Given the description of an element on the screen output the (x, y) to click on. 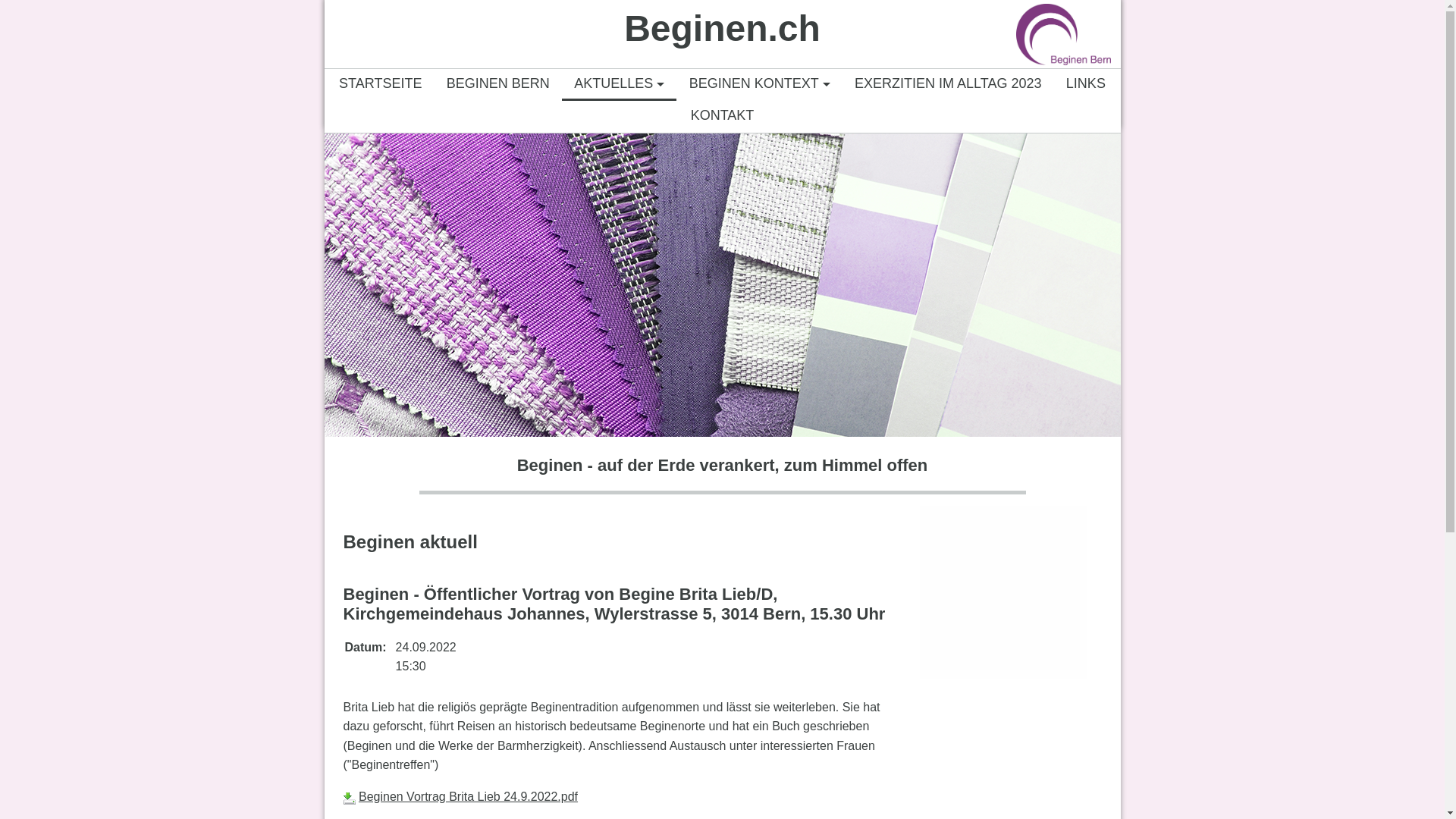
AKTUELLES Element type: text (618, 83)
Beginen Vortrag Brita Lieb 24.9.2022.pdf Element type: text (467, 796)
LINKS Element type: text (1085, 83)
Download Element type: hover (348, 798)
BEGINEN KONTEXT Element type: text (758, 83)
KONTAKT Element type: text (721, 115)
STARTSEITE Element type: text (380, 83)
EXERZITIEN IM ALLTAG 2023 Element type: text (948, 83)
BEGINEN BERN Element type: text (497, 83)
